Given the description of an element on the screen output the (x, y) to click on. 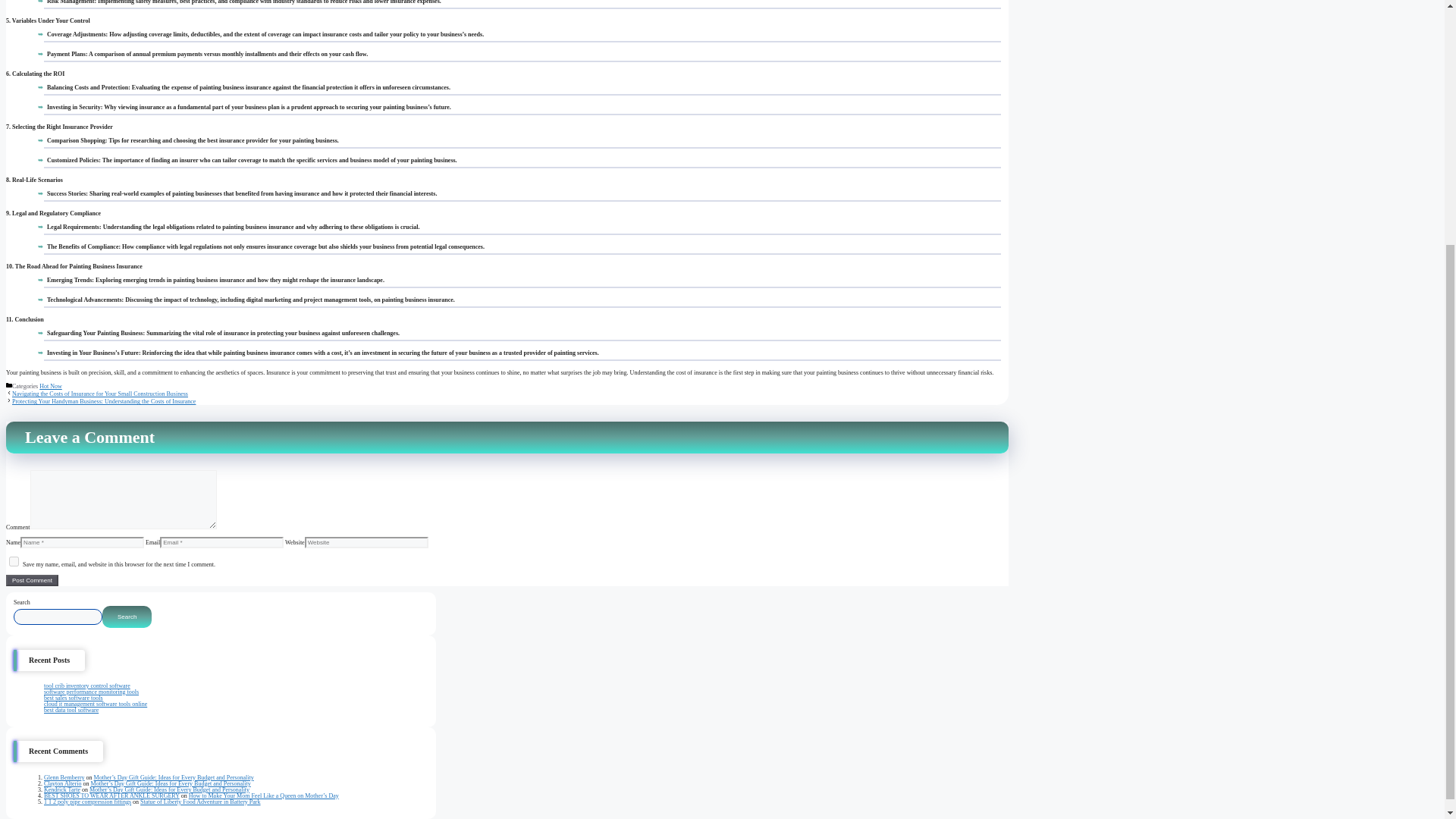
1 1 2 poly pipe compression fittings (87, 801)
yes (13, 561)
Search (126, 617)
Post Comment (31, 580)
software performance monitoring tools (90, 691)
Glenn Bemberry (63, 777)
tool crib inventory control software (87, 685)
best data tool software (71, 709)
Hot Now (50, 386)
Statue of Liberty Food Adventure in Battery Park (199, 801)
best sales software tools (73, 697)
Kendrick Tarte (61, 789)
cloud it management software tools online (95, 704)
Clayton Alterio (62, 783)
